Given the description of an element on the screen output the (x, y) to click on. 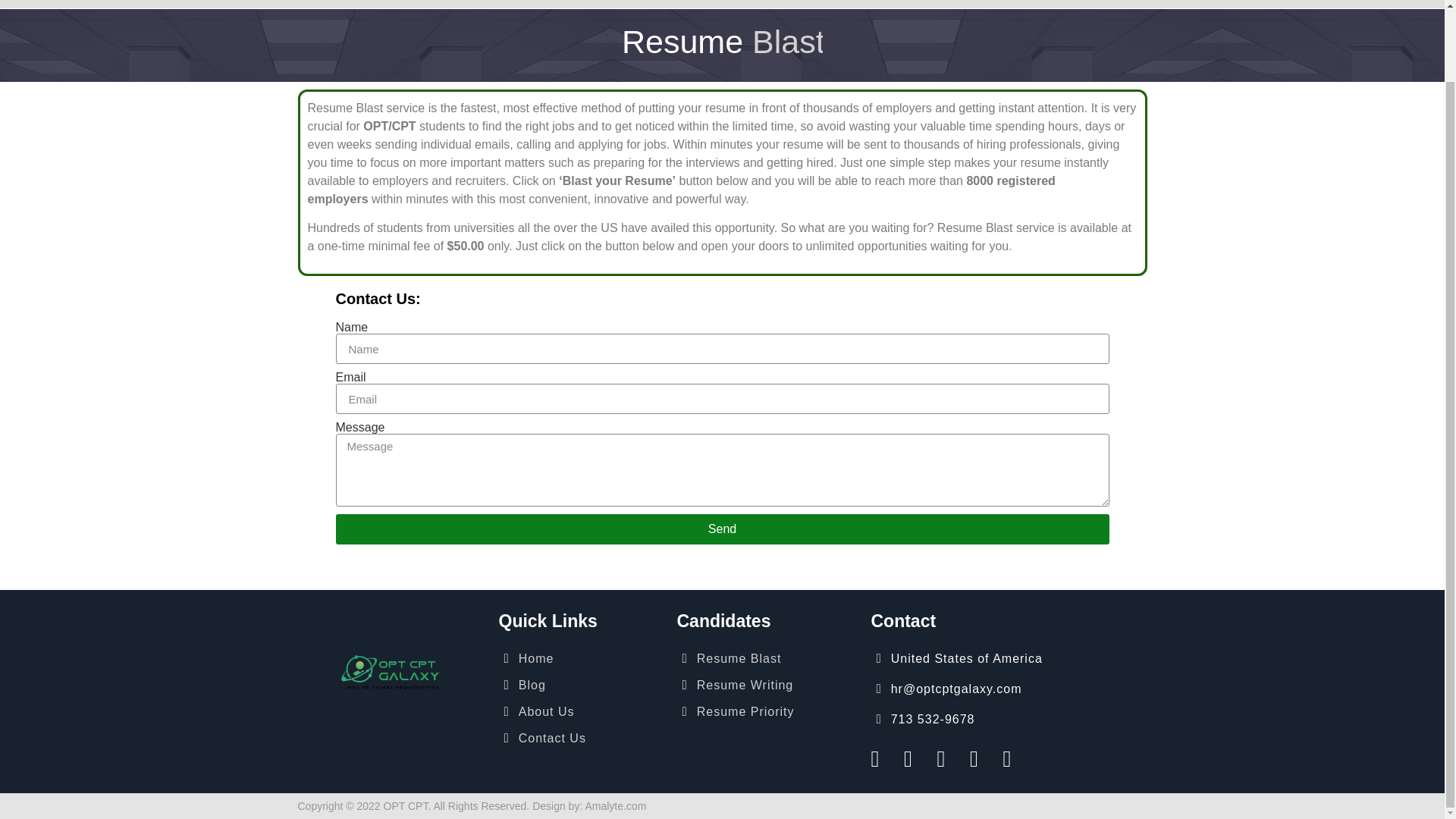
Send (721, 529)
713 532-9678 (1008, 718)
Home (580, 658)
Blog (580, 684)
About Us (580, 711)
Resume Writing (766, 684)
United States of America (1008, 658)
Contact Us (580, 737)
Resume Priority (766, 711)
Resume Blast (766, 658)
